Given the description of an element on the screen output the (x, y) to click on. 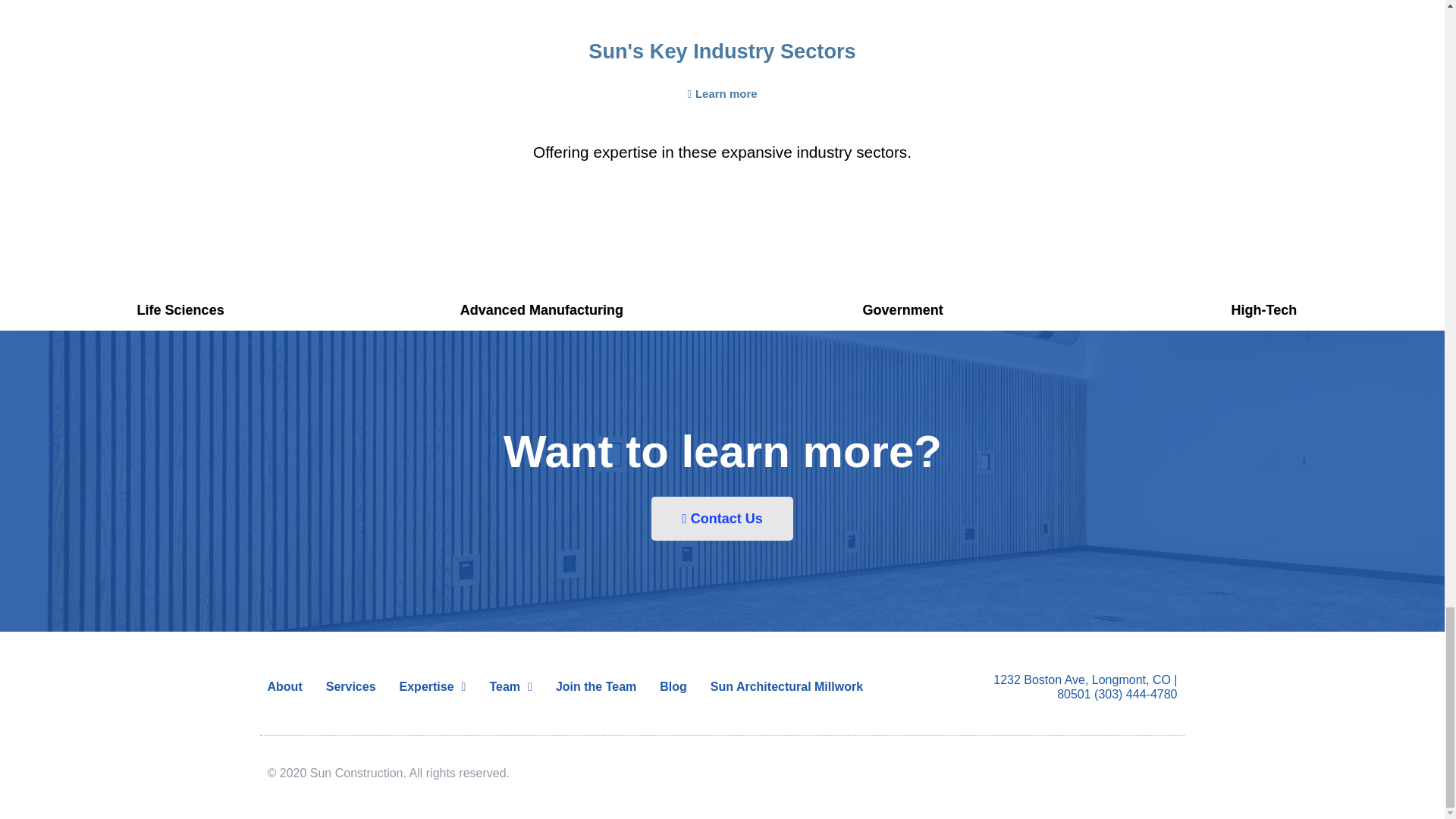
High-Tech (1264, 309)
Life Sciences (180, 310)
Services (350, 686)
Learn more (721, 93)
Advanced Manufacturing (541, 309)
Government (903, 309)
About (283, 686)
Contact Us (721, 518)
Expertise (431, 686)
